Given the description of an element on the screen output the (x, y) to click on. 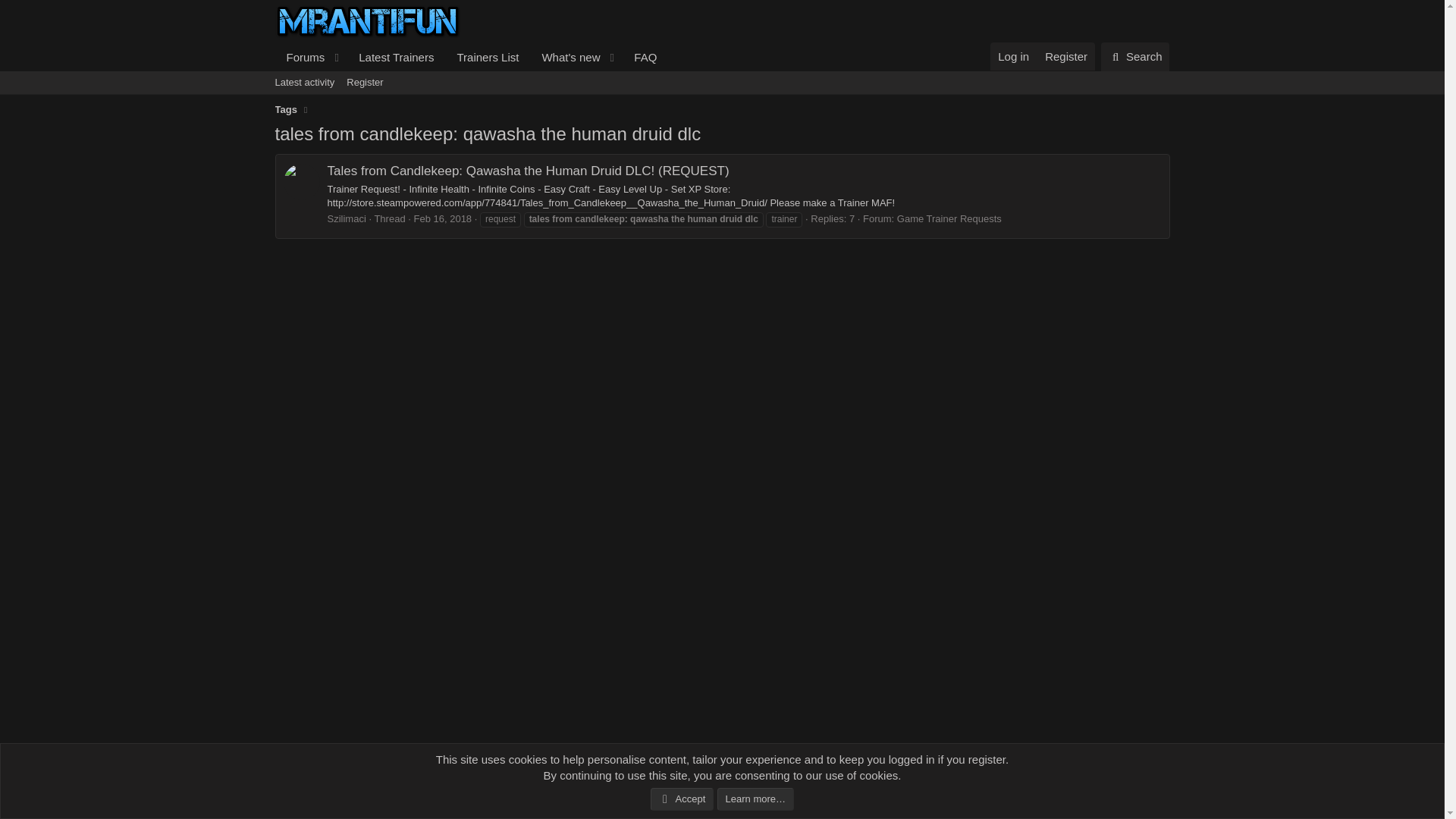
Register (1065, 56)
Privacy policy (1082, 803)
What's new (565, 57)
Search (720, 82)
Trainers List (1135, 56)
Szilimaci (487, 57)
Tags (346, 218)
Contact us (470, 57)
Tags (286, 109)
RSS (937, 803)
Feb 16, 2018 at 9:32 PM (286, 769)
Latest Trainers (1161, 803)
Latest activity (442, 218)
